Given the description of an element on the screen output the (x, y) to click on. 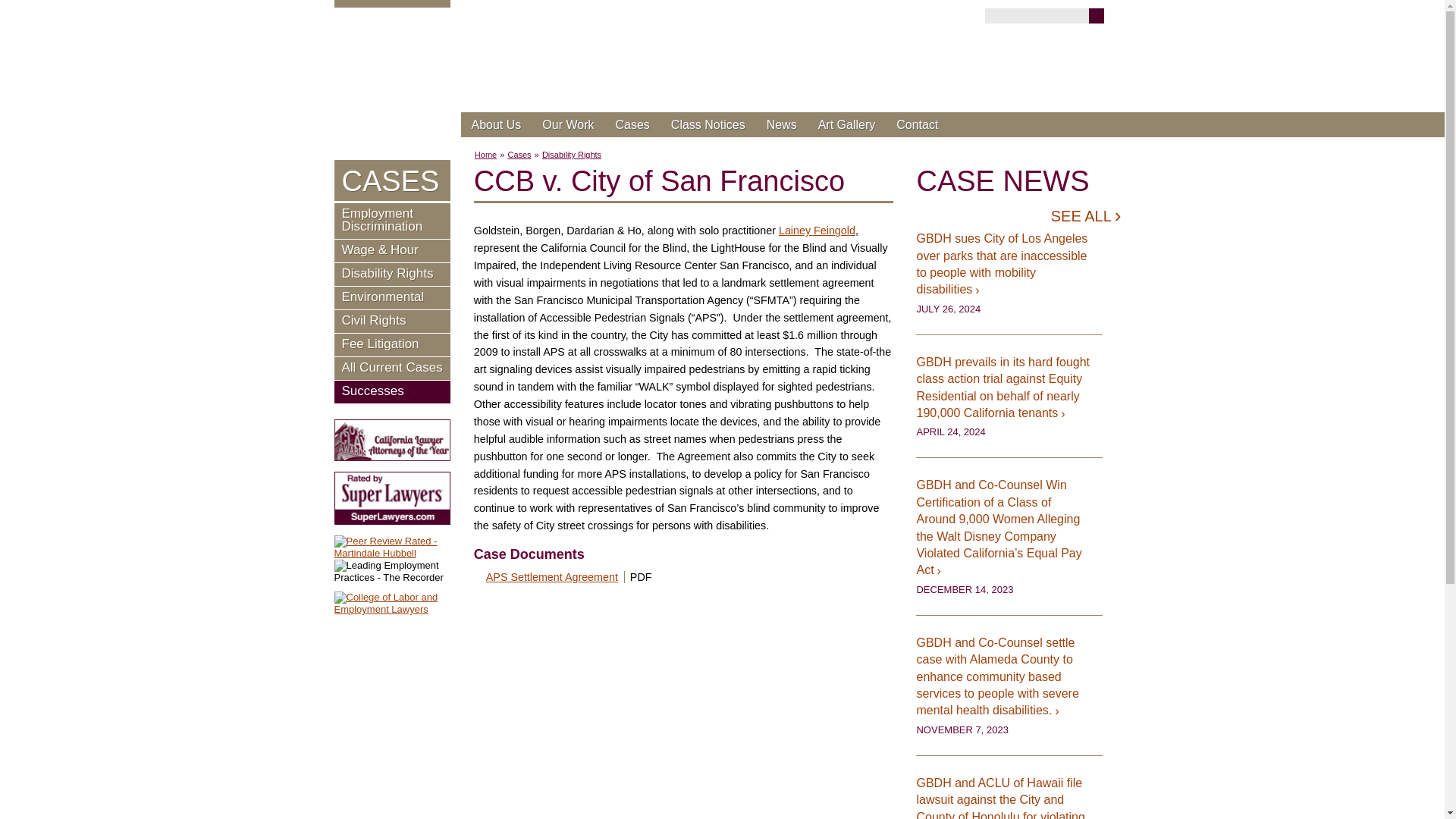
Art Gallery (847, 124)
Site will open in a new tab or window (817, 230)
Skip to content (476, 129)
Class Notices (708, 124)
Disability Rights (571, 153)
Full news story (1008, 387)
Contact (917, 124)
Full news story (1008, 796)
Site will open in a new tab or window (391, 547)
Skip to content (476, 129)
